Given the description of an element on the screen output the (x, y) to click on. 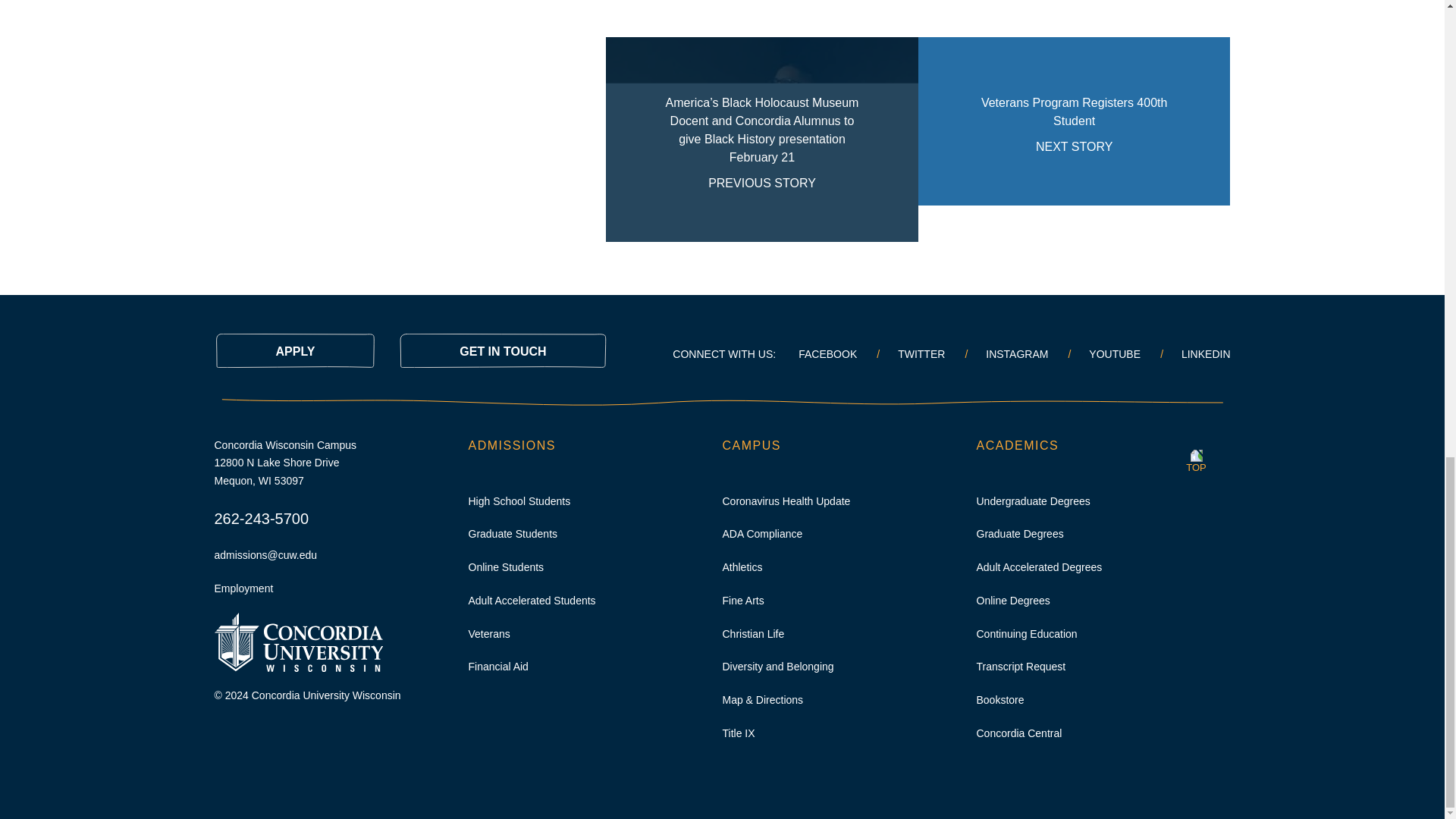
APPLY (294, 350)
TOP (1195, 456)
CUW Home Page (297, 641)
Learn more about ADA Compliance on the CUW Campus. (1074, 138)
GET IN TOUCH (762, 533)
